Given the description of an element on the screen output the (x, y) to click on. 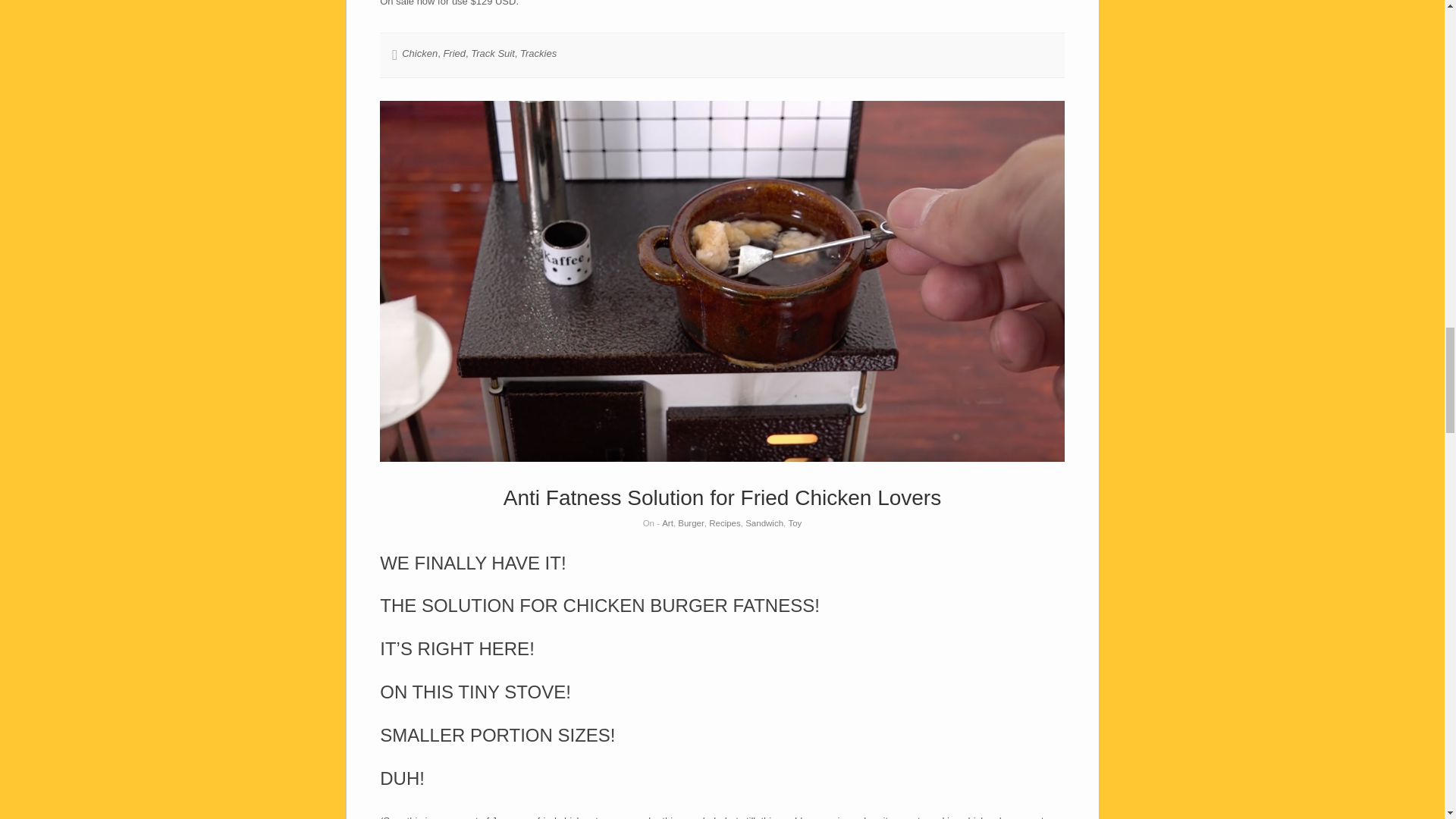
Burger (691, 522)
Chicken (419, 52)
Recipes (725, 522)
Fried (453, 52)
Art (667, 522)
Trackies (537, 52)
Track Suit (492, 52)
Toy (794, 522)
Anti Fatness Solution for Fried Chicken Lovers (721, 497)
Sandwich (764, 522)
